Given the description of an element on the screen output the (x, y) to click on. 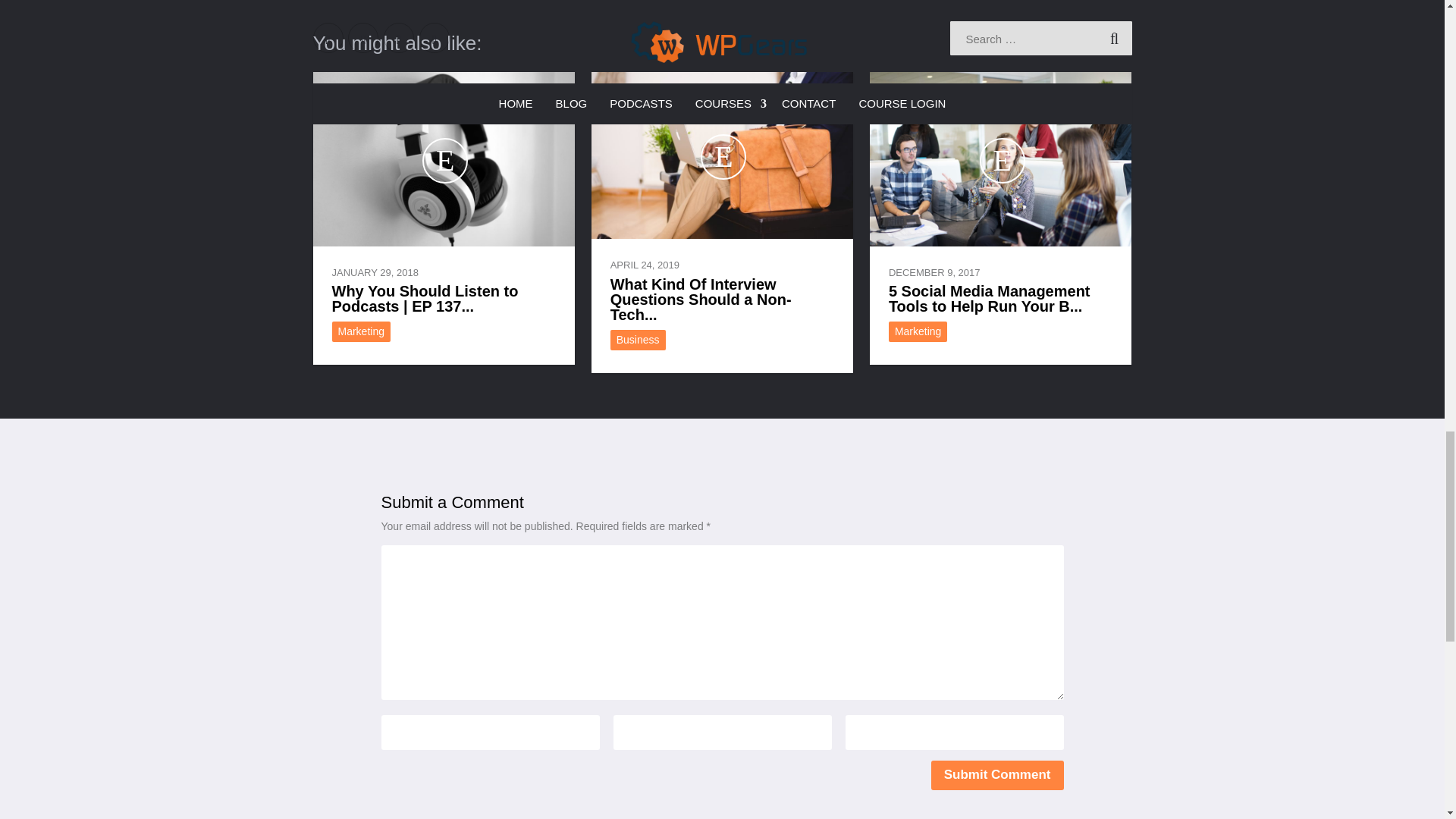
Submit Comment (997, 775)
